Given the description of an element on the screen output the (x, y) to click on. 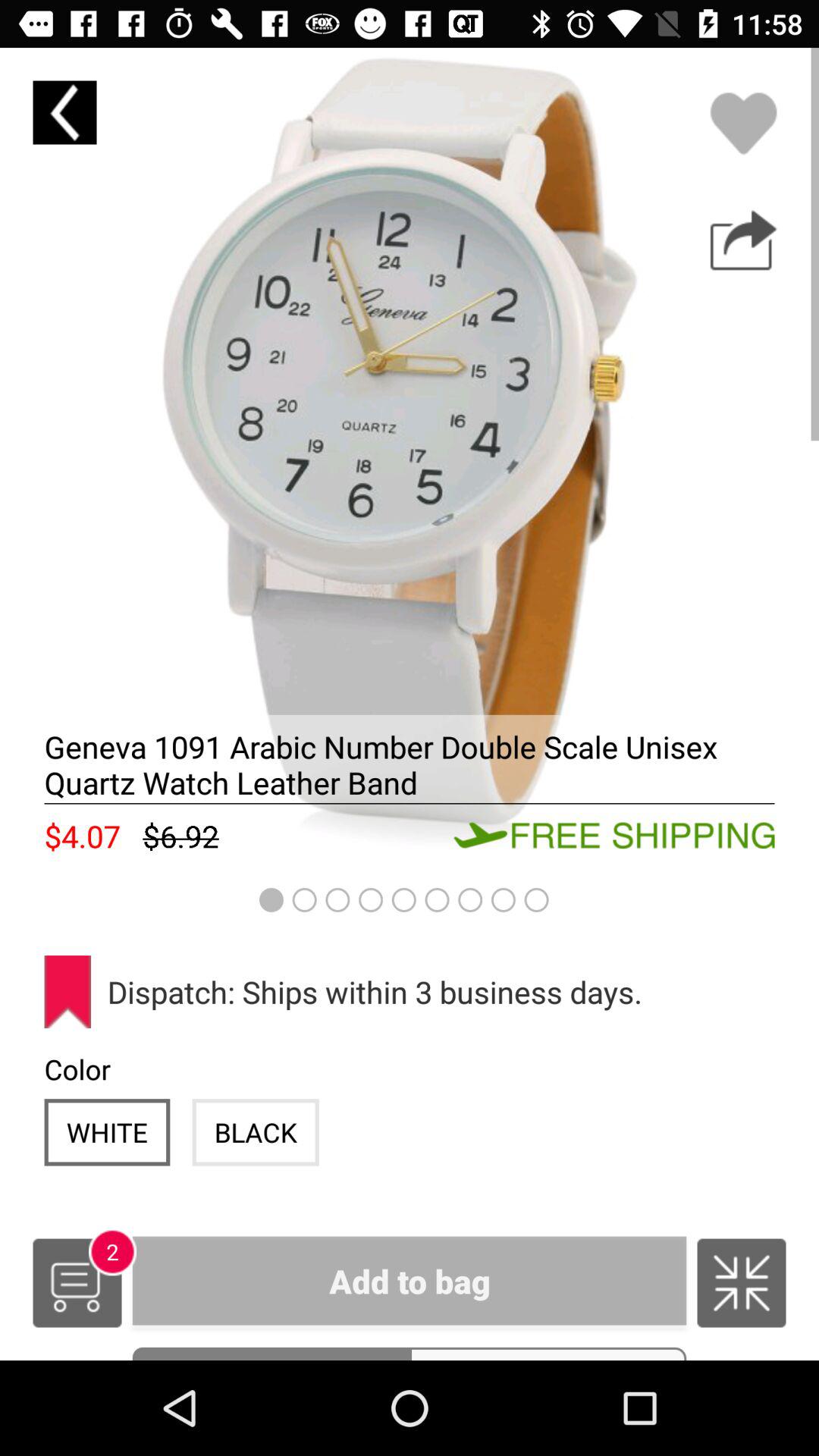
jump until white icon (107, 1131)
